Given the description of an element on the screen output the (x, y) to click on. 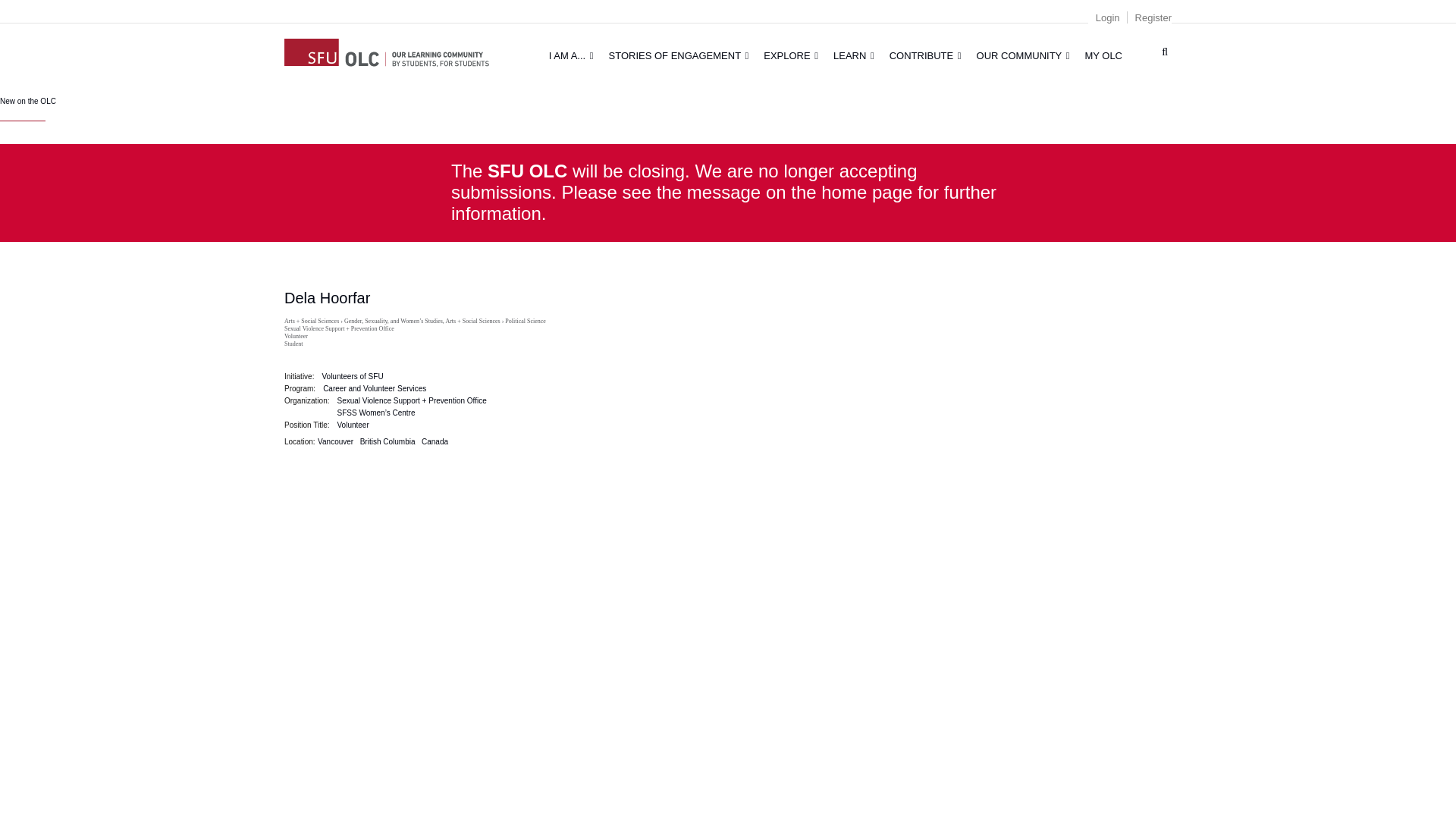
CONTRIBUTE (925, 55)
Register (1153, 17)
OUR COMMUNITY (1023, 55)
EXPLORE (790, 55)
Login (1107, 17)
LEARN (853, 55)
Home (386, 50)
STORIES OF ENGAGEMENT (679, 55)
I AM A... (571, 55)
